Given the description of an element on the screen output the (x, y) to click on. 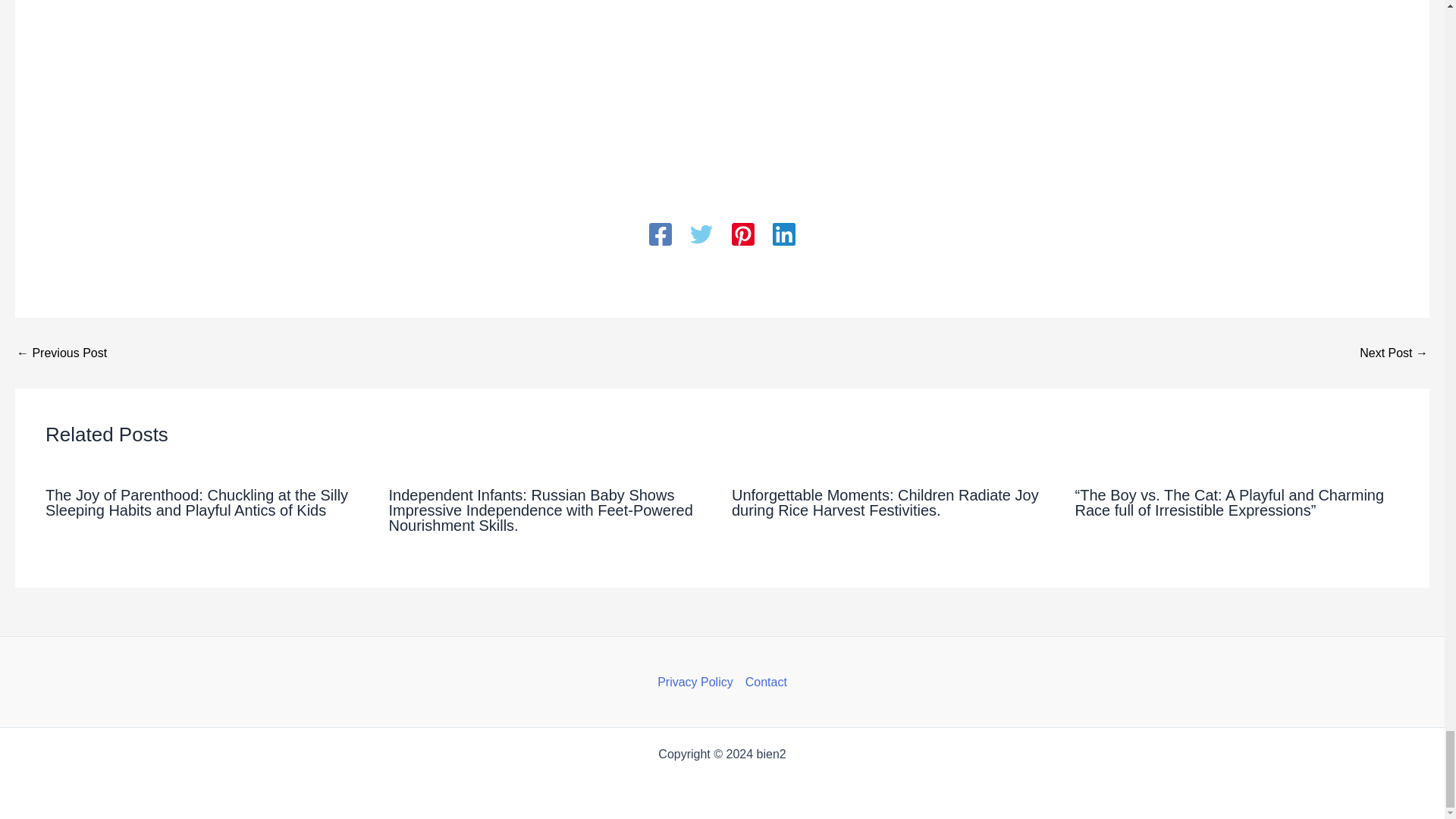
"The Elusive Iberian Lynx: A Rare Feline Wonder" (1393, 353)
"Downcast Pup: A Heartbreaking Tale of Lost Hope and Defeat" (61, 353)
Privacy Policy (698, 681)
Contact (763, 681)
